Given the description of an element on the screen output the (x, y) to click on. 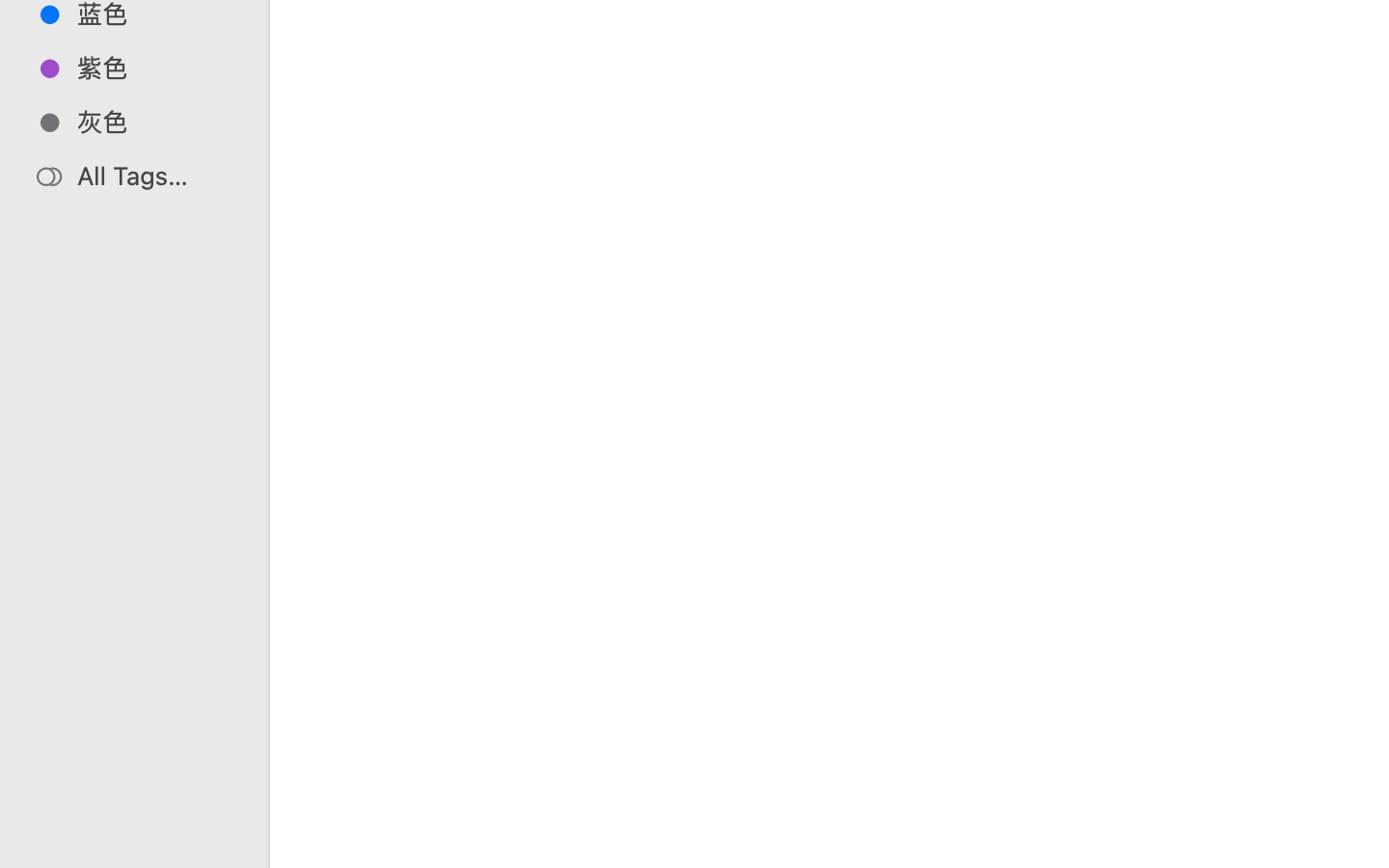
finder Element type: AXStaticText (875, 786)
All Tags… Element type: AXStaticText (155, 175)
紫色 Element type: AXStaticText (155, 67)
0 Element type: AXRadioButton (23, 846)
灰色 Element type: AXStaticText (155, 121)
